Given the description of an element on the screen output the (x, y) to click on. 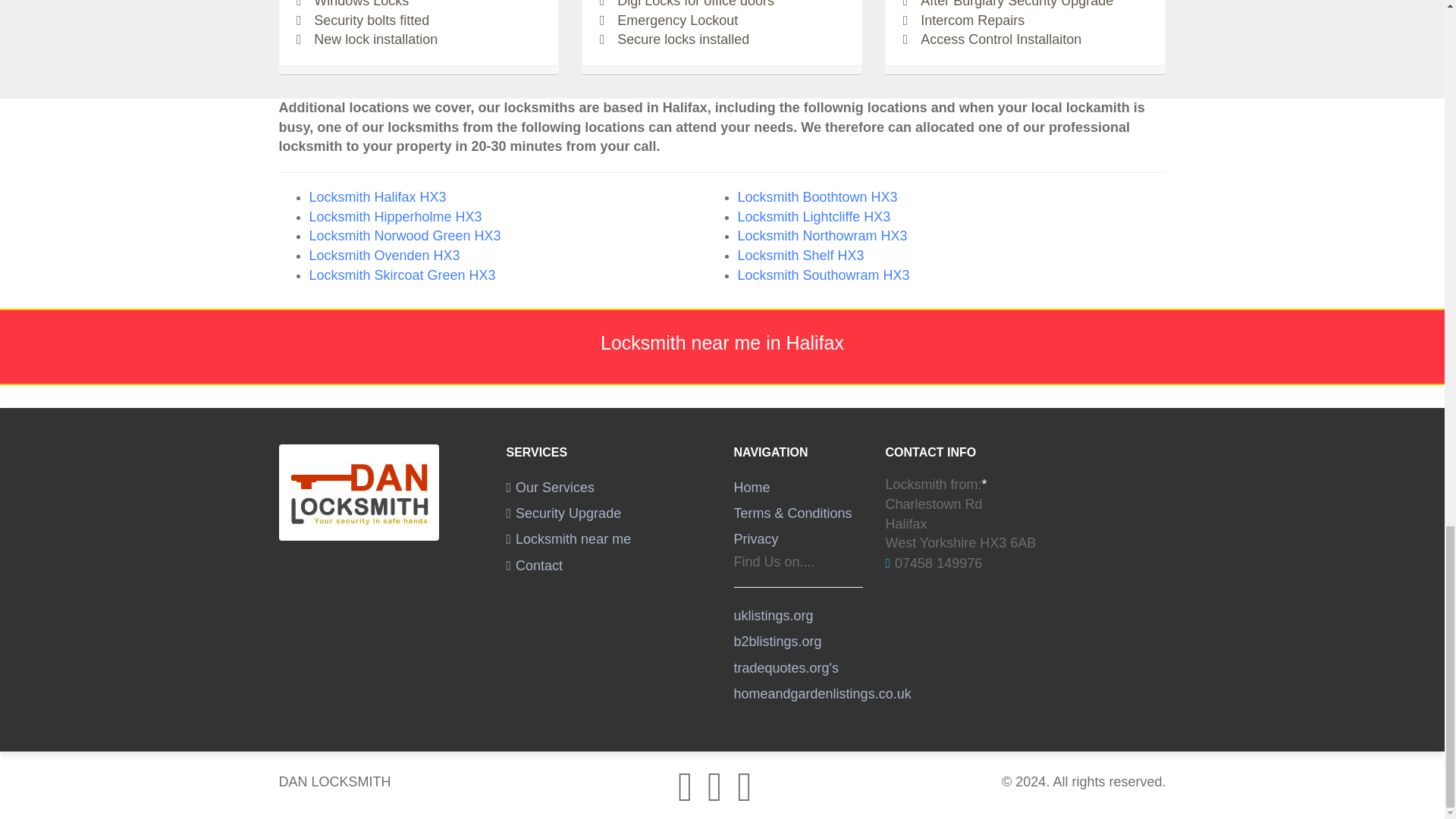
Locksmith near me in Halifax (568, 539)
b2blistings.org (777, 641)
Locksmith Halifax HX3 (377, 196)
Contact (534, 565)
Locksmith Ovenden HX3 - Call: 07458 149976 (384, 255)
Locksmith Norwood Green HX3 (404, 235)
Locksmith Skircoat Green HX3 - Call: 07458 149976 (402, 274)
tradequotes.org's (786, 667)
Locksmith Shelf HX3 (799, 255)
Home (751, 487)
Locksmith Lightcliffe HX3 - Call: 07458 149976 (812, 216)
Our Services (550, 487)
Locksmith near me (568, 539)
Locksmith Hipperholme HX3 - Call: 07458 149976 (394, 216)
Locksmith Boothtown HX3 - Call: 07458 149976 (816, 196)
